Given the description of an element on the screen output the (x, y) to click on. 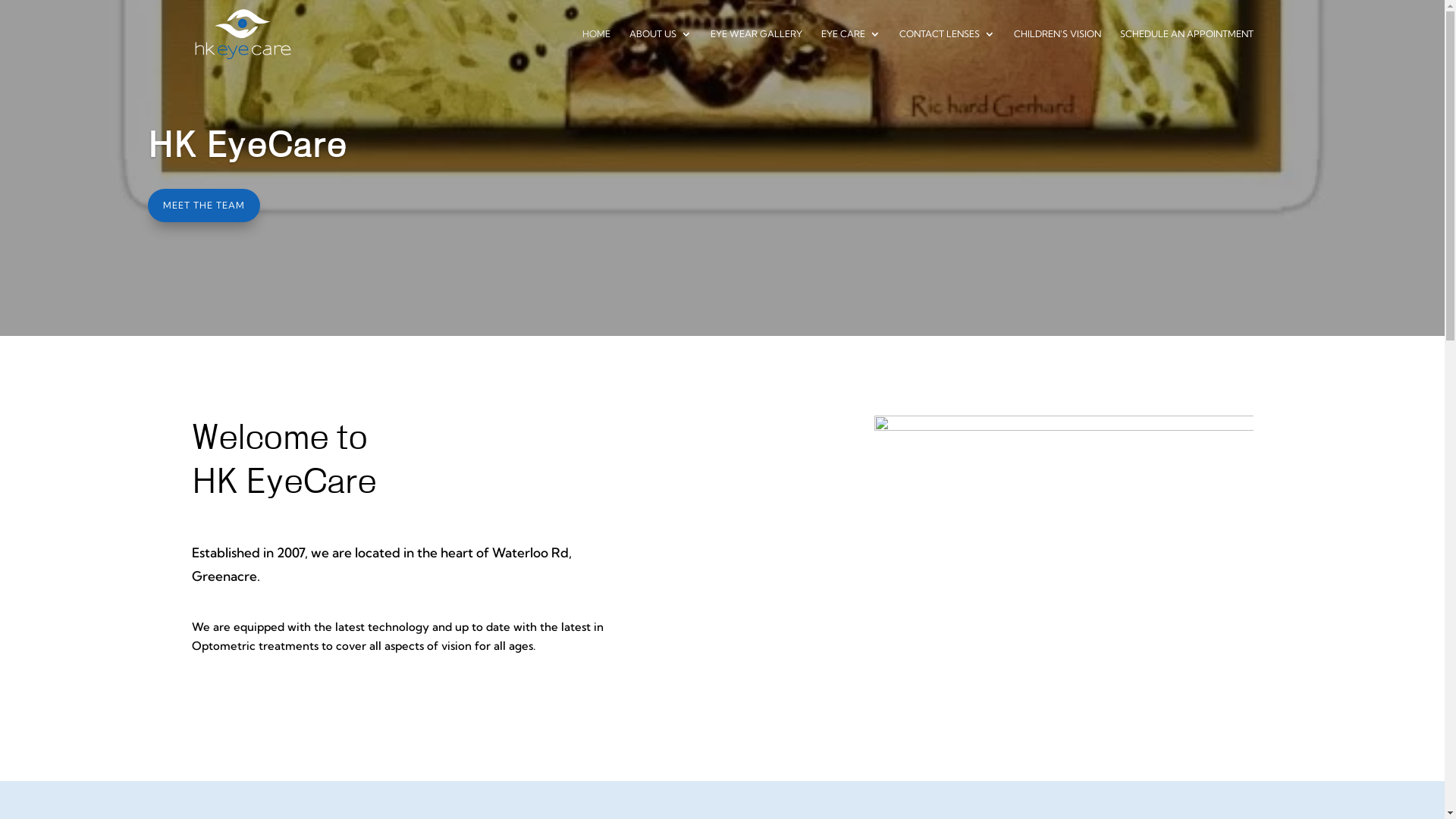
ABOUT US Element type: text (660, 48)
CONTACT LENSES Element type: text (946, 48)
EYE CARE Element type: text (849, 48)
SCHEDULE AN APPOINTMENT Element type: text (1185, 48)
HOME Element type: text (596, 48)
HK EyeCare Element type: text (246, 145)
MEET THE TEAM Element type: text (203, 205)
EYE WEAR GALLERY Element type: text (755, 48)
